Given the description of an element on the screen output the (x, y) to click on. 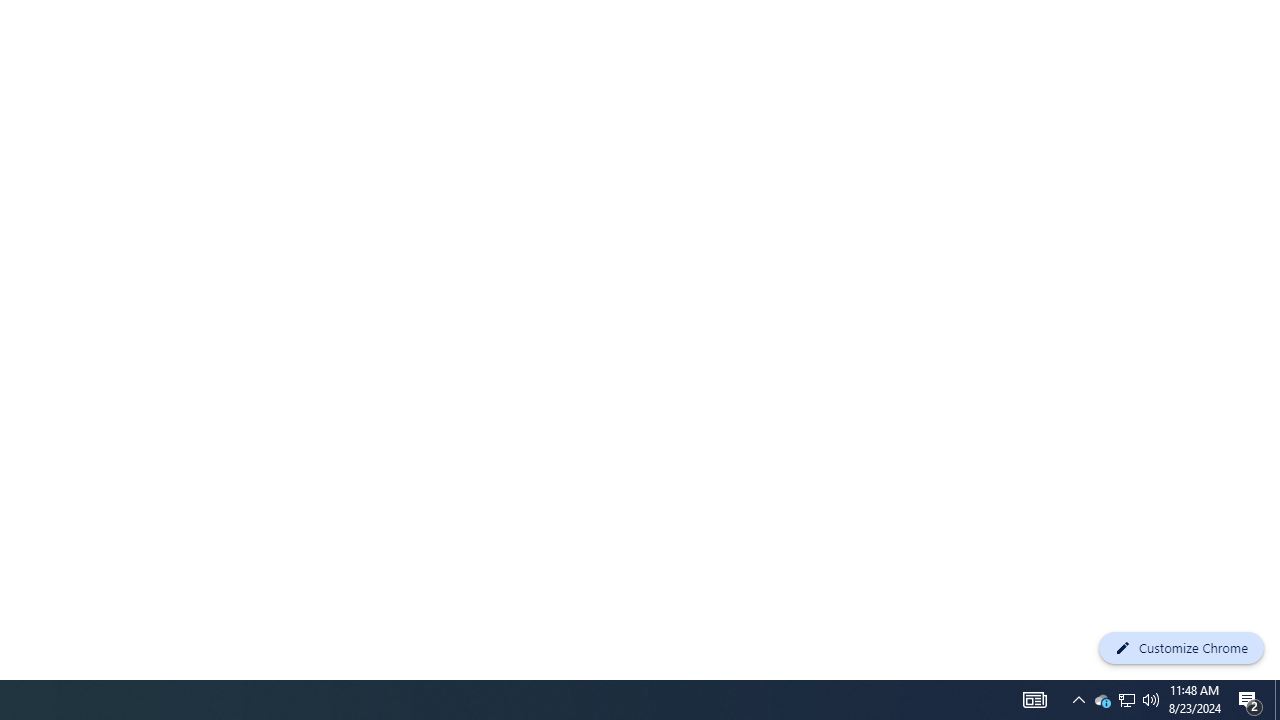
Customize Chrome (1181, 647)
